Given the description of an element on the screen output the (x, y) to click on. 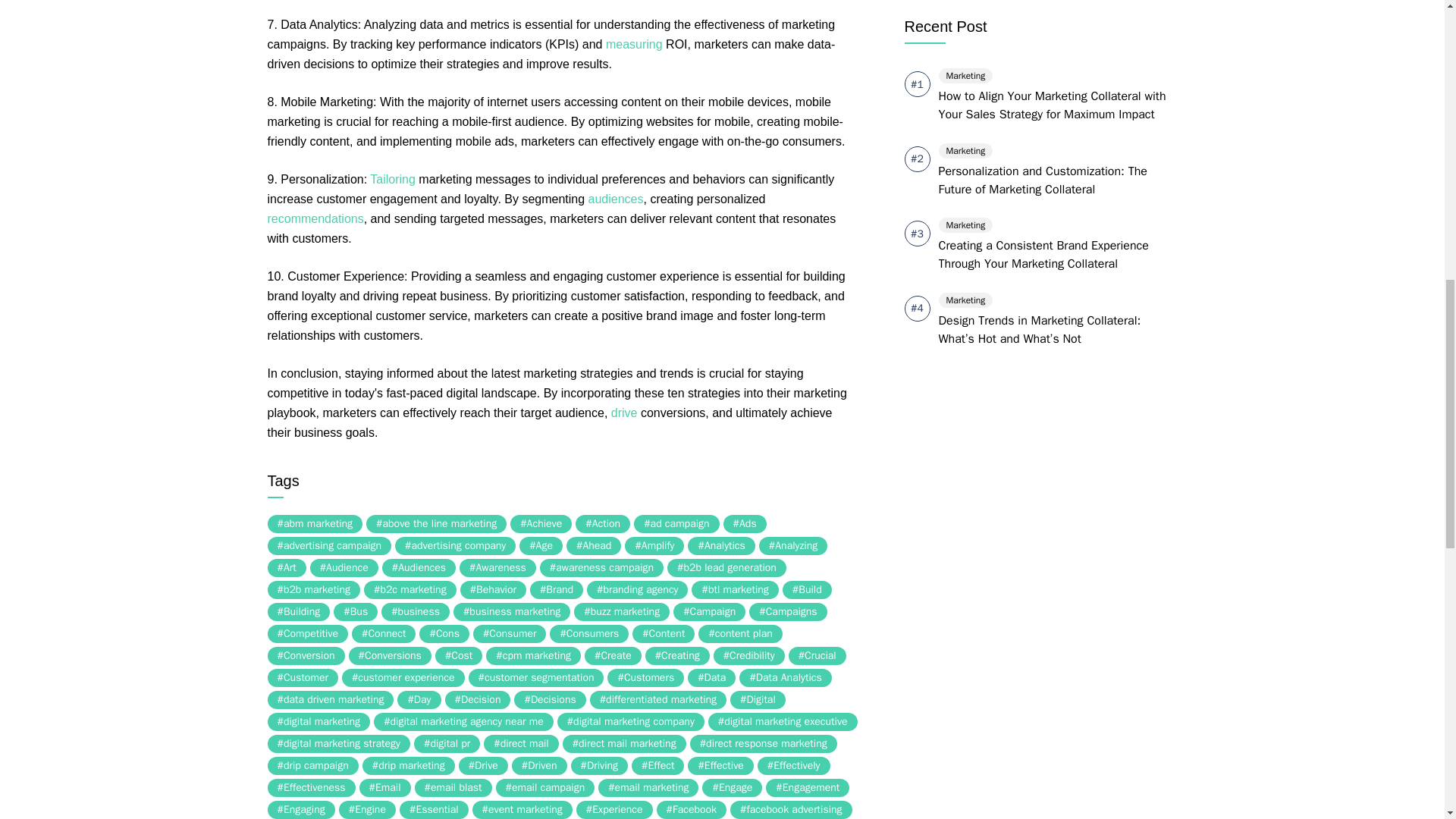
driving (380, 295)
advertising campaign (328, 546)
Posts tagged with Data (432, 24)
Posts tagged with Data (293, 24)
ad campaign (676, 524)
Audience (344, 567)
Data (293, 24)
advertising company (454, 546)
Posts tagged with Data (819, 43)
Age (540, 546)
